Given the description of an element on the screen output the (x, y) to click on. 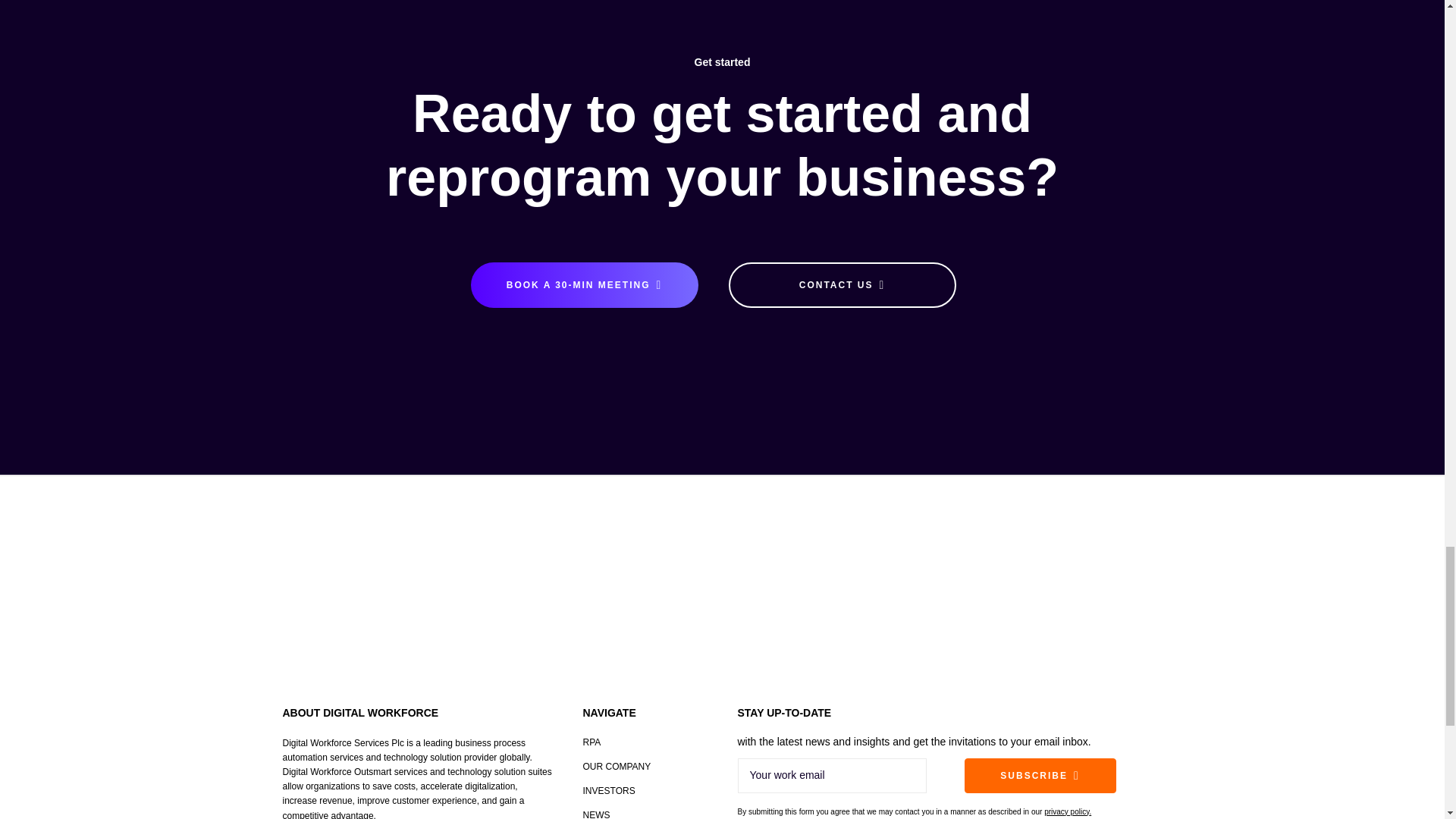
digital-workforce-logo (380, 586)
